Given the description of an element on the screen output the (x, y) to click on. 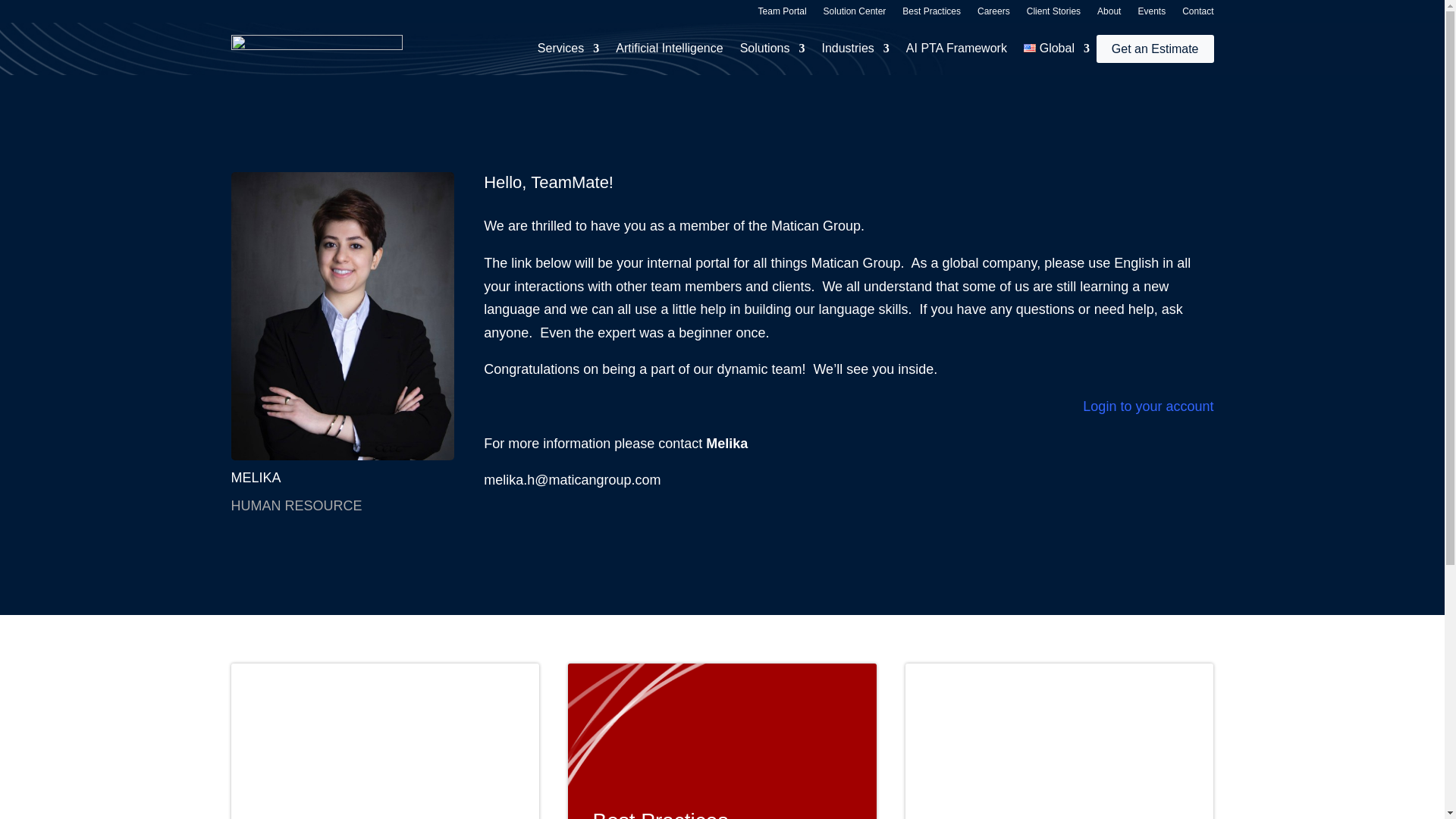
About (1109, 13)
Services (567, 51)
Global (1056, 51)
AI PTA Framework (956, 51)
Best Practices (931, 13)
Contact (1197, 13)
Get an Estimate (1155, 49)
Industries (854, 51)
Artificial Intelligence (668, 51)
Client Stories (1053, 13)
Events (1151, 13)
MG-Logo- (315, 48)
Team Portal (782, 13)
Careers (993, 13)
Solution Center (855, 13)
